Given the description of an element on the screen output the (x, y) to click on. 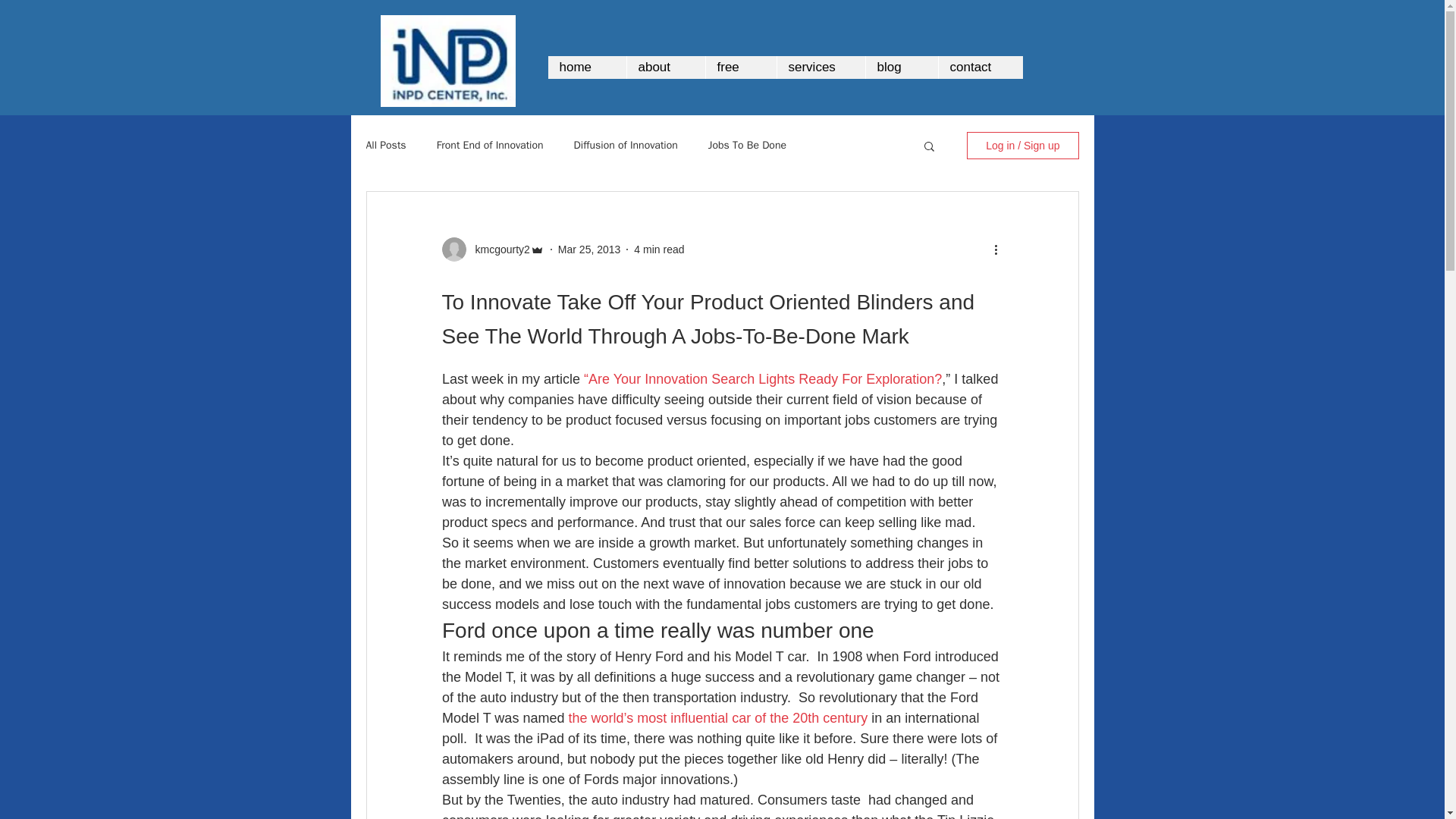
All Posts (385, 145)
free (740, 67)
services (820, 67)
about (665, 67)
Front End of Innovation (489, 145)
4 min read (658, 248)
Diffusion of Innovation (625, 145)
Mar 25, 2013 (589, 248)
home (586, 67)
blog (900, 67)
kmcgourty2 (497, 248)
Jobs To Be Done (746, 145)
contact (979, 67)
